Given the description of an element on the screen output the (x, y) to click on. 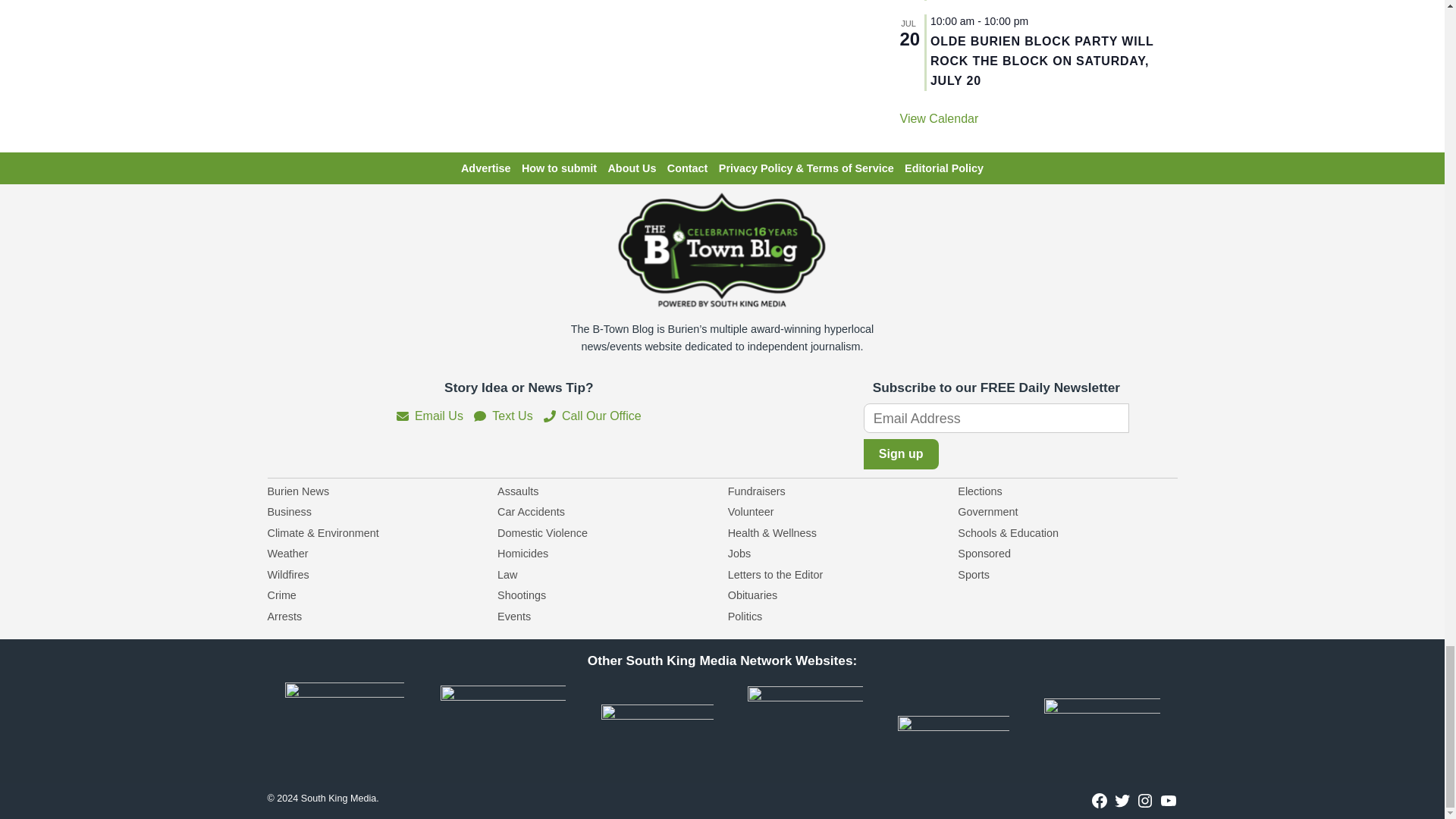
Sign up (901, 453)
